Given the description of an element on the screen output the (x, y) to click on. 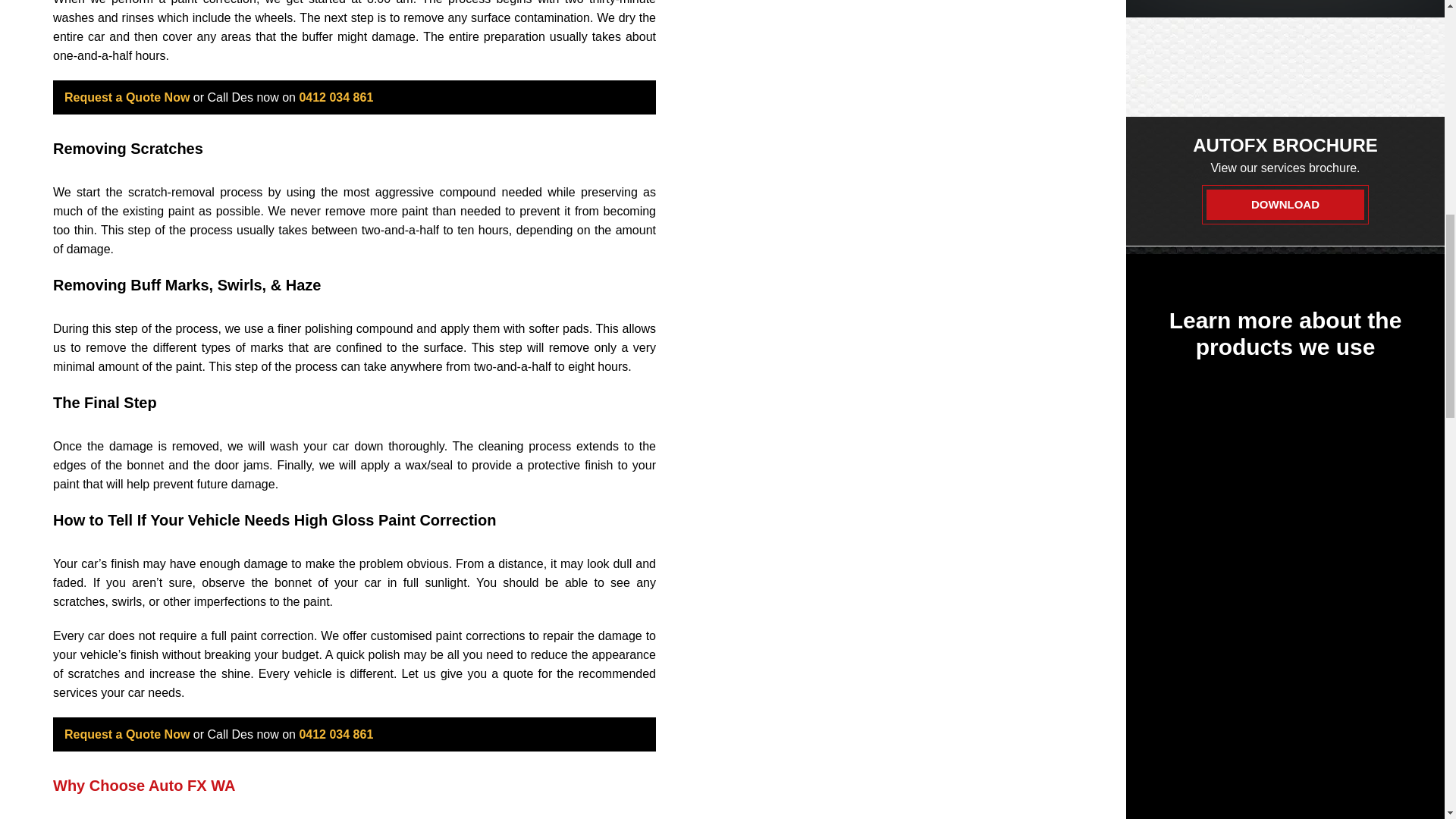
Request a Quote Now (126, 97)
0412 034 861 (335, 97)
